Given the description of an element on the screen output the (x, y) to click on. 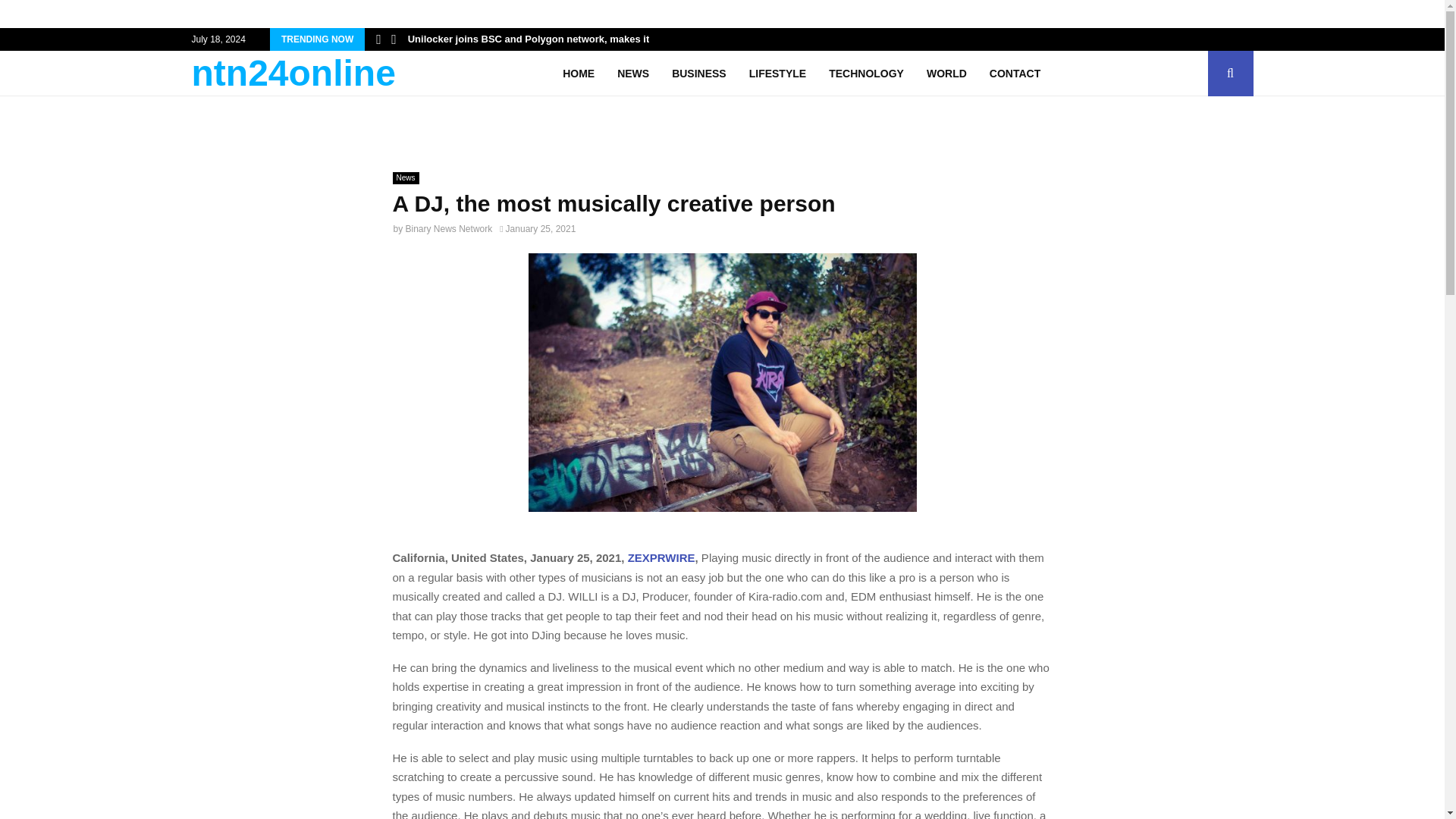
BUSINESS (698, 73)
CONTACT (1015, 73)
ZEXPRWIRE (661, 557)
News (406, 177)
TECHNOLOGY (866, 73)
Binary News Network (449, 228)
ntn24online (292, 73)
LIFESTYLE (777, 73)
